Given the description of an element on the screen output the (x, y) to click on. 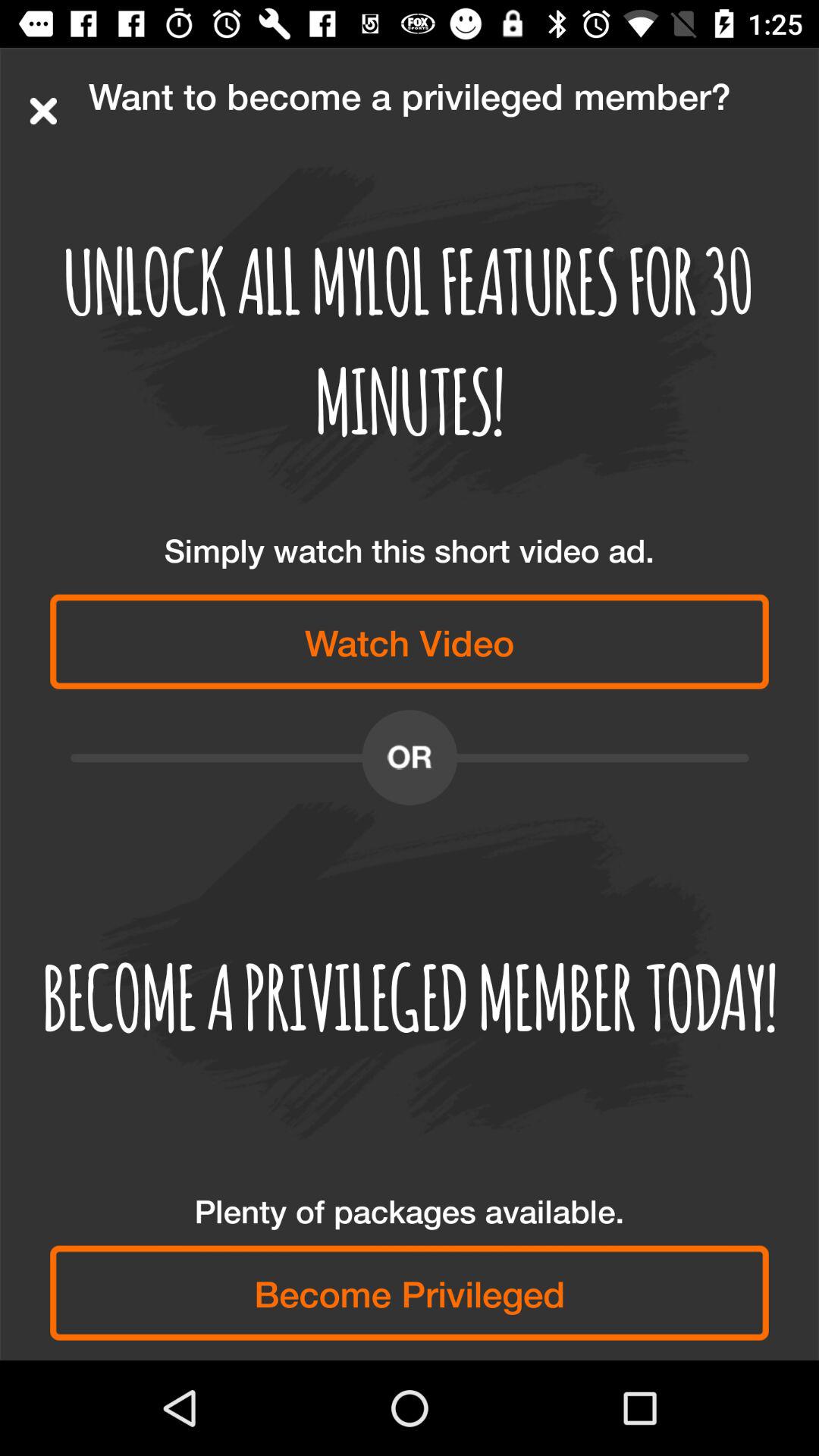
tap item above unlock all mylol item (43, 110)
